Given the description of an element on the screen output the (x, y) to click on. 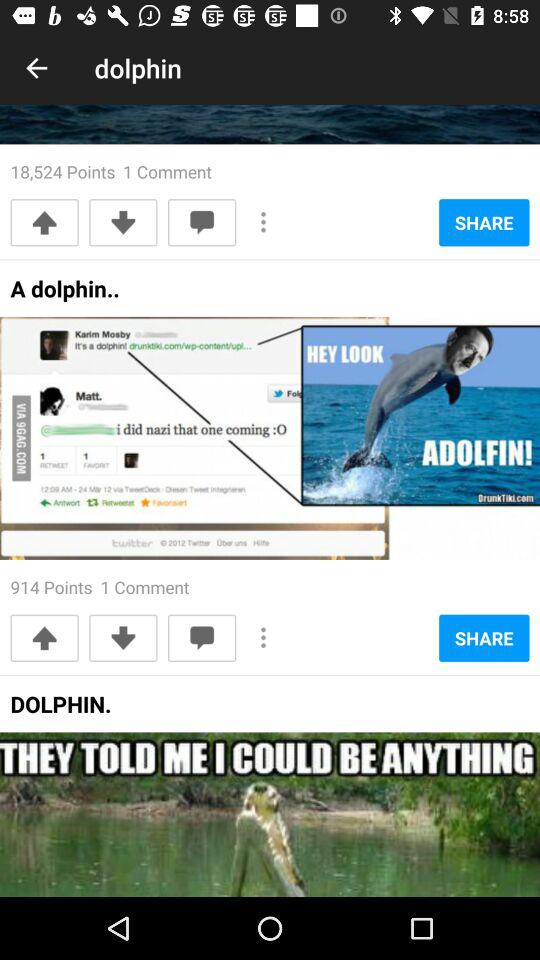
click the item above the 18 524 points icon (36, 68)
